Given the description of an element on the screen output the (x, y) to click on. 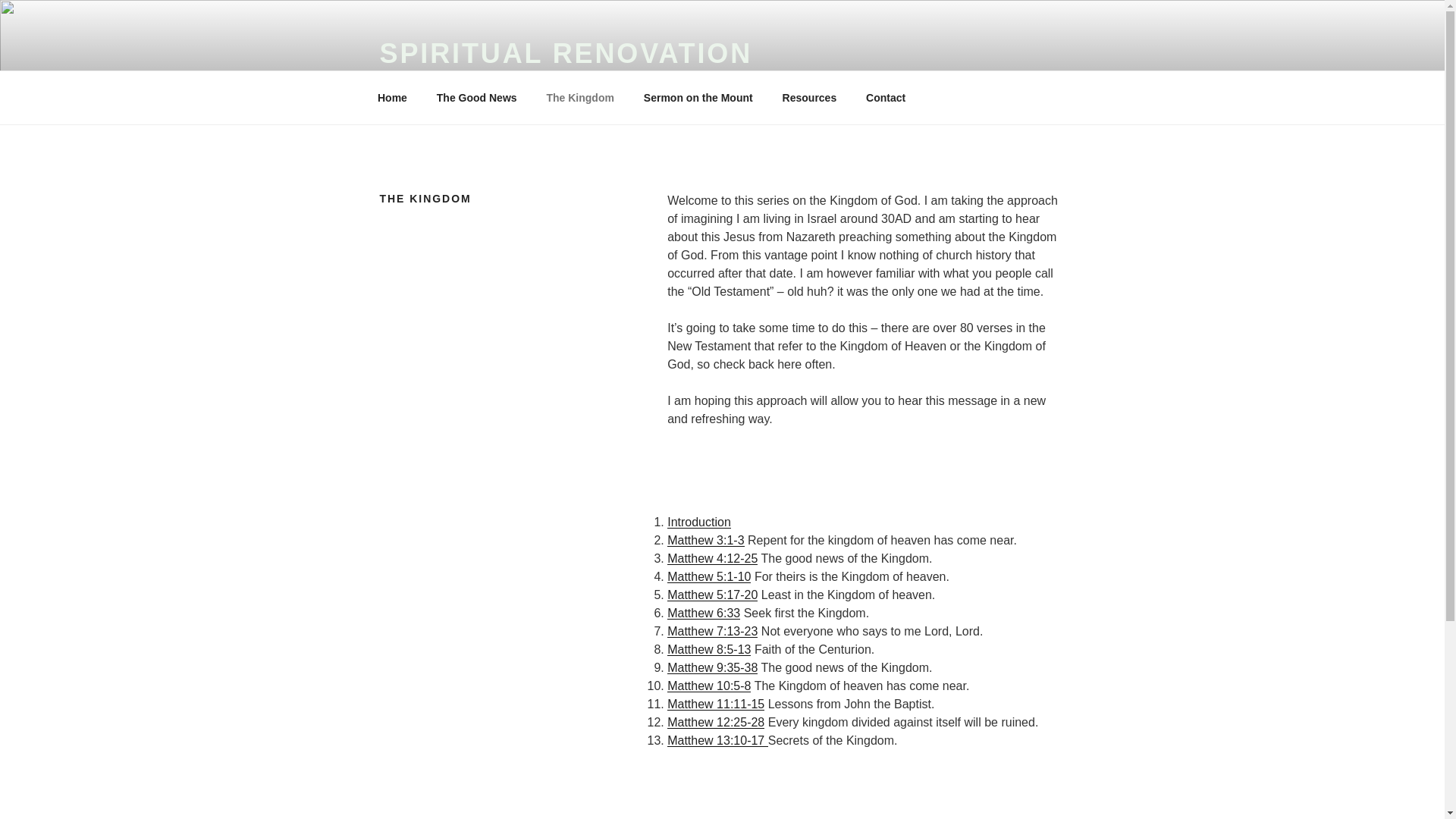
Matthew 9:35-38 (711, 667)
Matthew 8:5-13 (708, 649)
Matthew 11:11-15 (715, 703)
Resources (809, 97)
Matthew 10:5-8 (708, 685)
SPIRITUAL RENOVATION (565, 52)
Sermon on the Mount (697, 97)
Matthew 5:1-10 (708, 576)
The Good News (476, 97)
The Kingdom (579, 97)
Matthew 7:13-23 (711, 631)
Introduction (698, 521)
Matthew 3:1-3 (705, 540)
Matthew 6:33 (702, 612)
Home (392, 97)
